Given the description of an element on the screen output the (x, y) to click on. 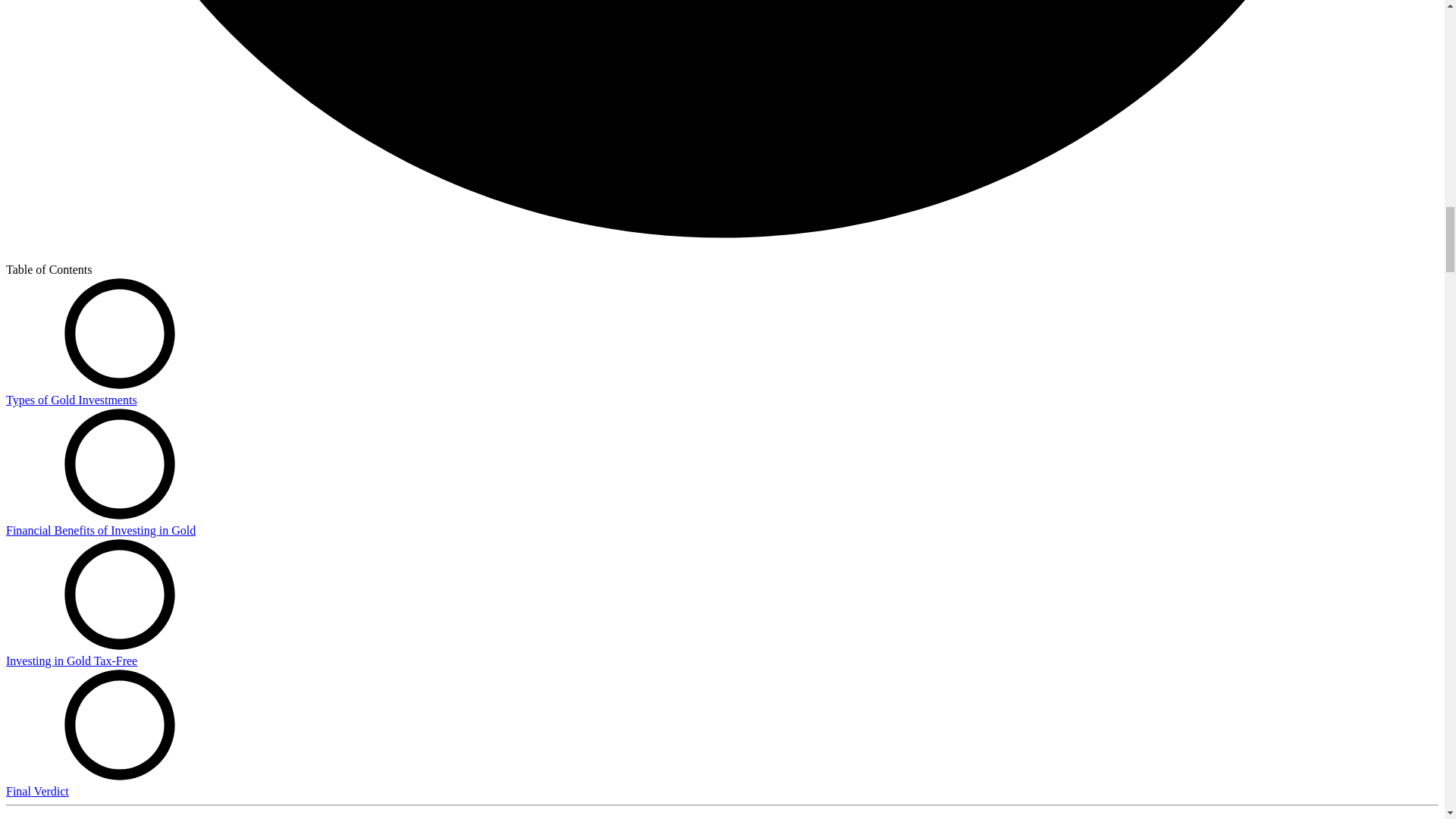
Investing in Gold Tax-Free (70, 660)
Financial Benefits of Investing in Gold (100, 530)
Final Verdict (36, 790)
Financial Benefits of Investing in Gold (100, 530)
Types of Gold Investments (70, 399)
Final Verdict (36, 790)
Investing in Gold Tax-Free (70, 660)
Types of Gold Investments (70, 399)
